Given the description of an element on the screen output the (x, y) to click on. 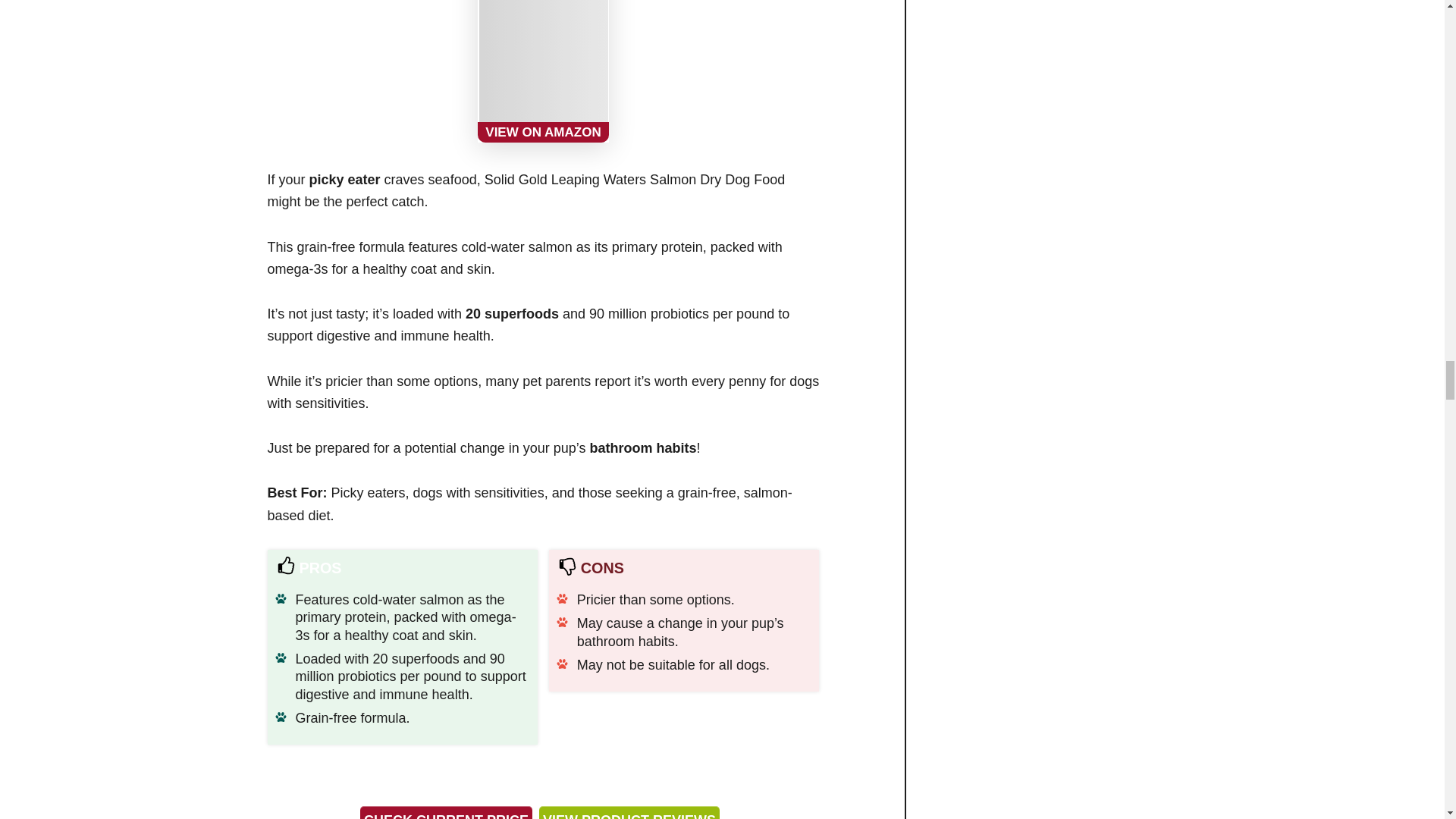
Solid Gold Leaping Waters - (542, 71)
